Given the description of an element on the screen output the (x, y) to click on. 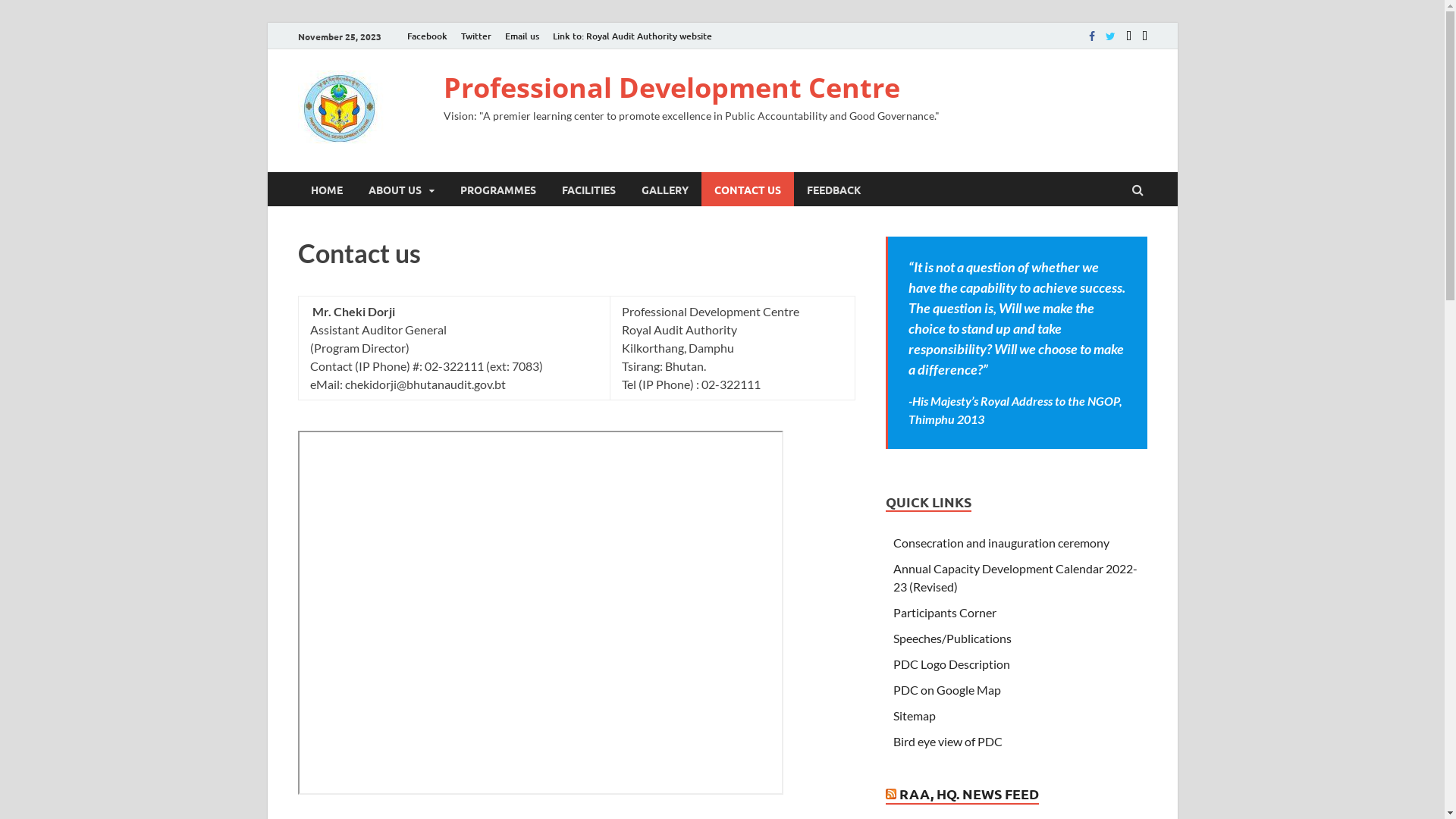
Facebook Element type: text (427, 35)
Participants Corner Element type: text (944, 612)
FEEDBACK Element type: text (833, 189)
Twitter Element type: text (475, 35)
FACILITIES Element type: text (588, 189)
RAA, HQ. NEWS FEED Element type: text (968, 793)
Link to: Royal Audit Authority website Element type: text (632, 35)
Email us Element type: text (521, 35)
PDC Logo Description Element type: text (951, 663)
Speeches/Publications Element type: text (952, 637)
GALLERY Element type: text (663, 189)
PDC on Google Map Element type: text (947, 689)
Sitemap Element type: text (914, 715)
Annual Capacity Development Calendar 2022-23 (Revised) Element type: text (1015, 577)
Consecration and inauguration ceremony Element type: text (1001, 542)
PROGRAMMES Element type: text (498, 189)
CONTACT US Element type: text (746, 189)
ABOUT US Element type: text (400, 189)
HOME Element type: text (325, 189)
Professional Development Centre Element type: text (670, 87)
Bird eye view of PDC Element type: text (947, 741)
